Given the description of an element on the screen output the (x, y) to click on. 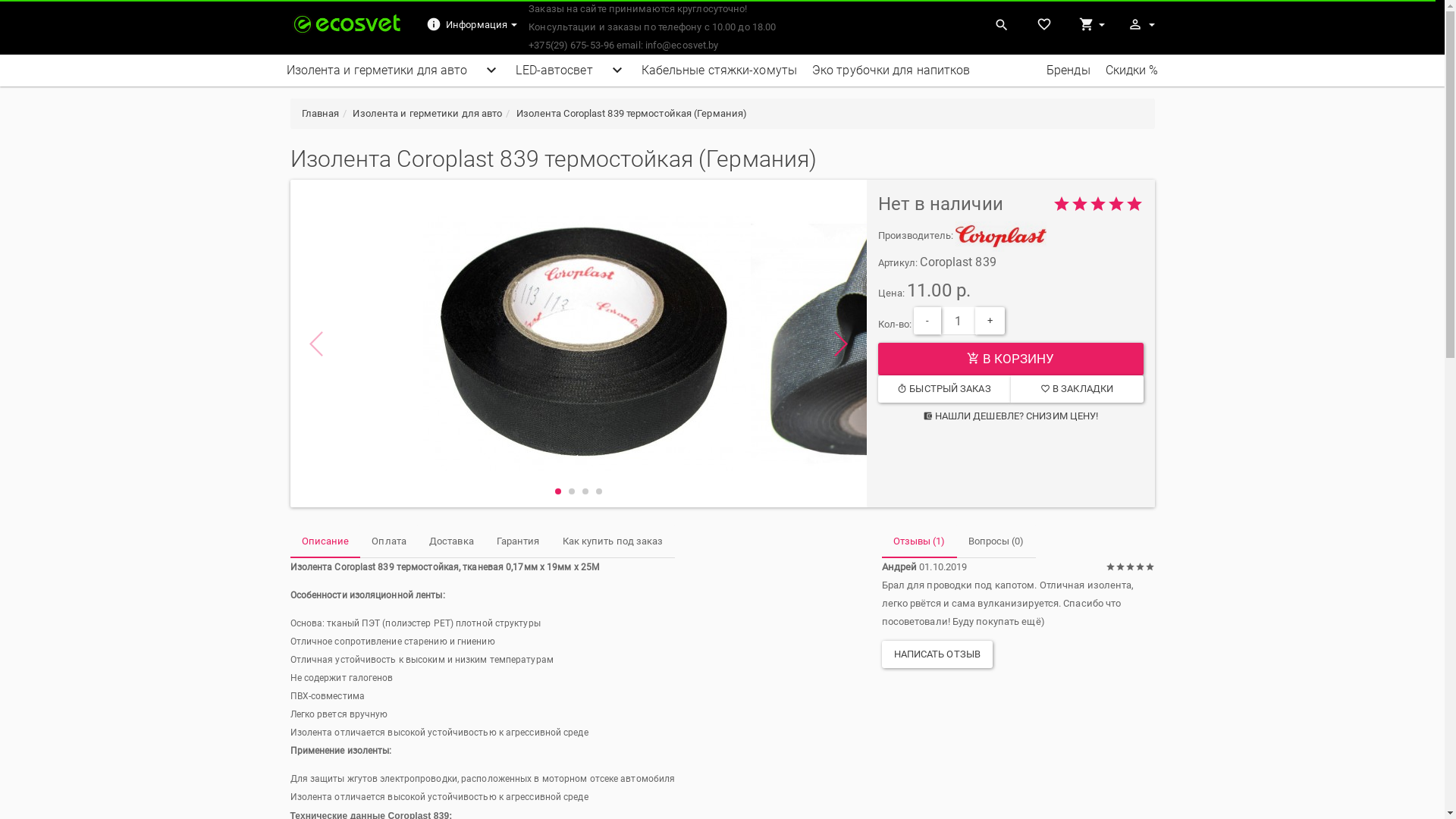
- Element type: text (927, 320)
+ Element type: text (989, 320)
